Given the description of an element on the screen output the (x, y) to click on. 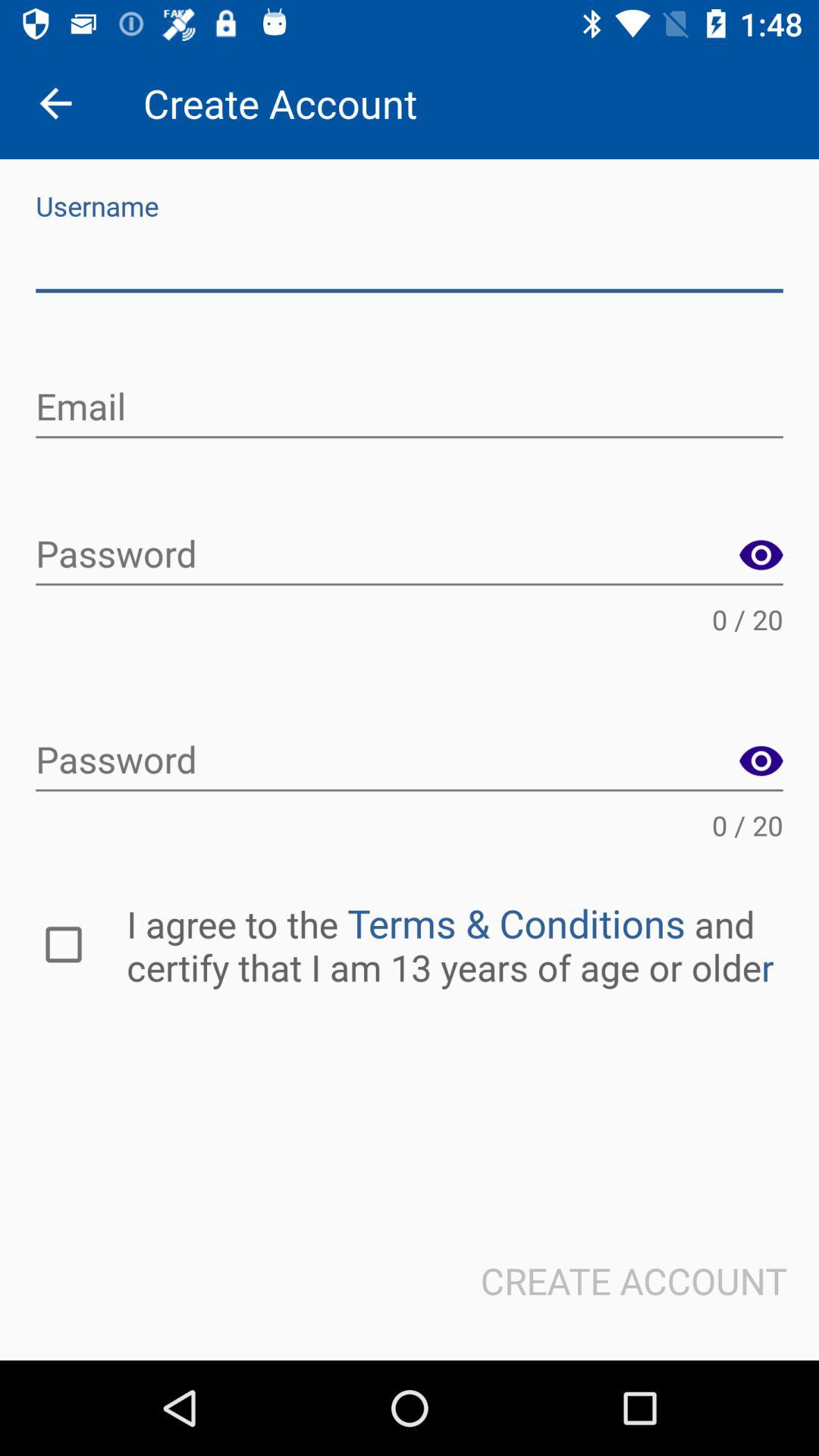
reading mode (761, 555)
